Given the description of an element on the screen output the (x, y) to click on. 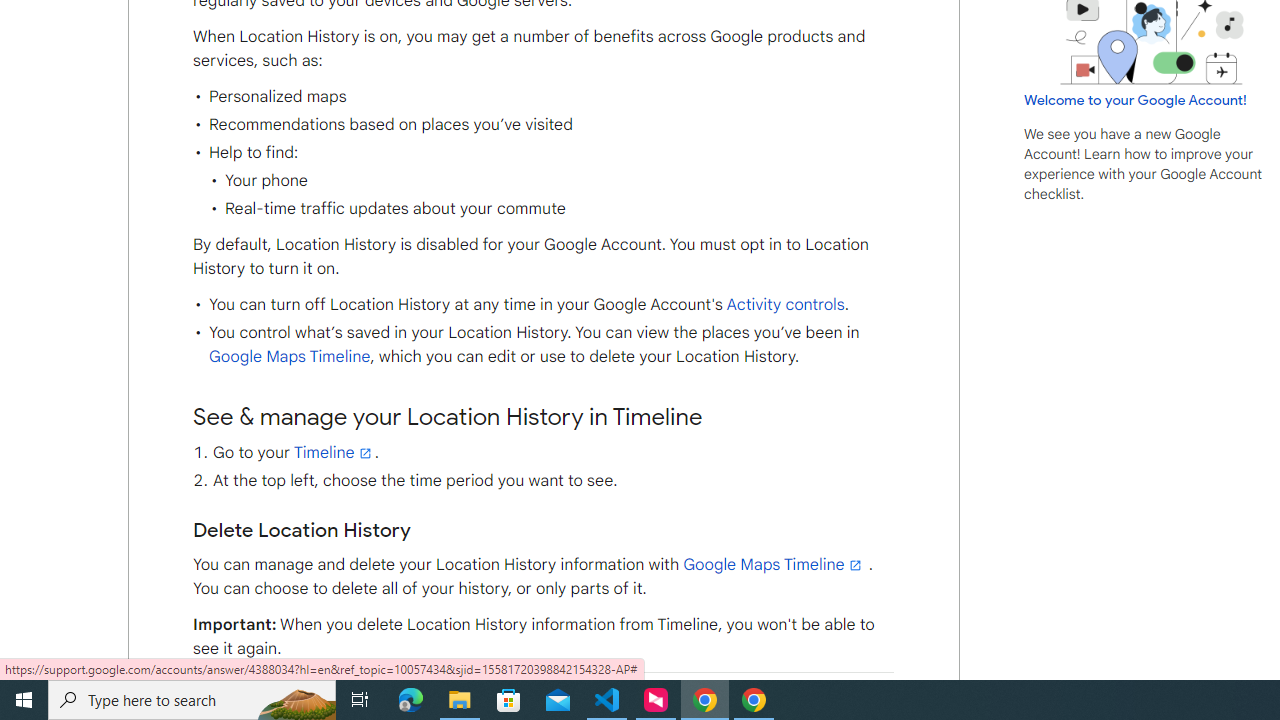
Welcome to your Google Account! (1135, 99)
Google Maps Timeline (774, 565)
Activity controls (784, 305)
Timeline (334, 452)
